Given the description of an element on the screen output the (x, y) to click on. 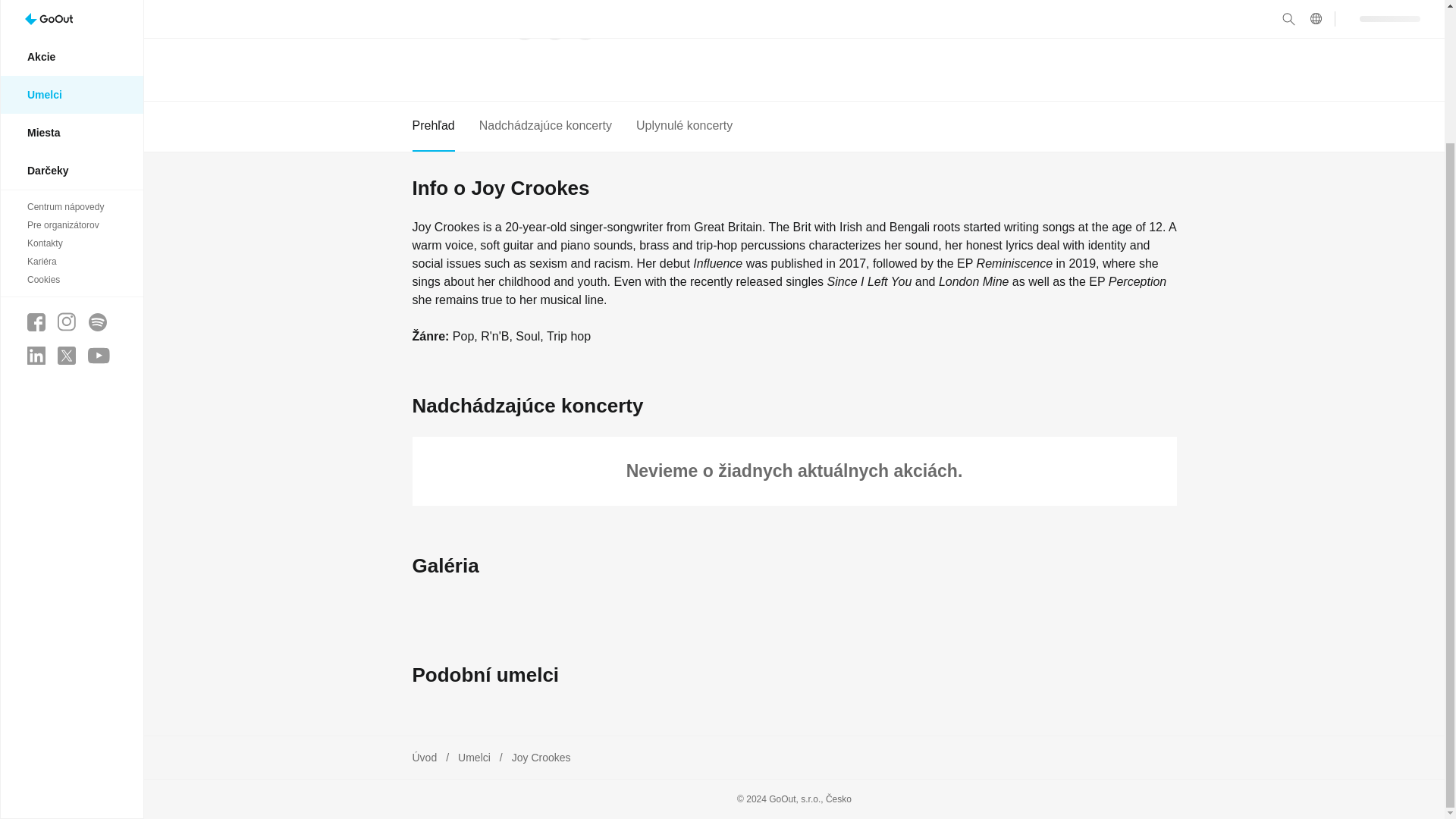
Soul (527, 336)
Pop (463, 336)
Umelci (474, 757)
Trip hop (569, 336)
R'n'B (494, 336)
Kontakty (71, 81)
Joy Crookes (541, 757)
